Given the description of an element on the screen output the (x, y) to click on. 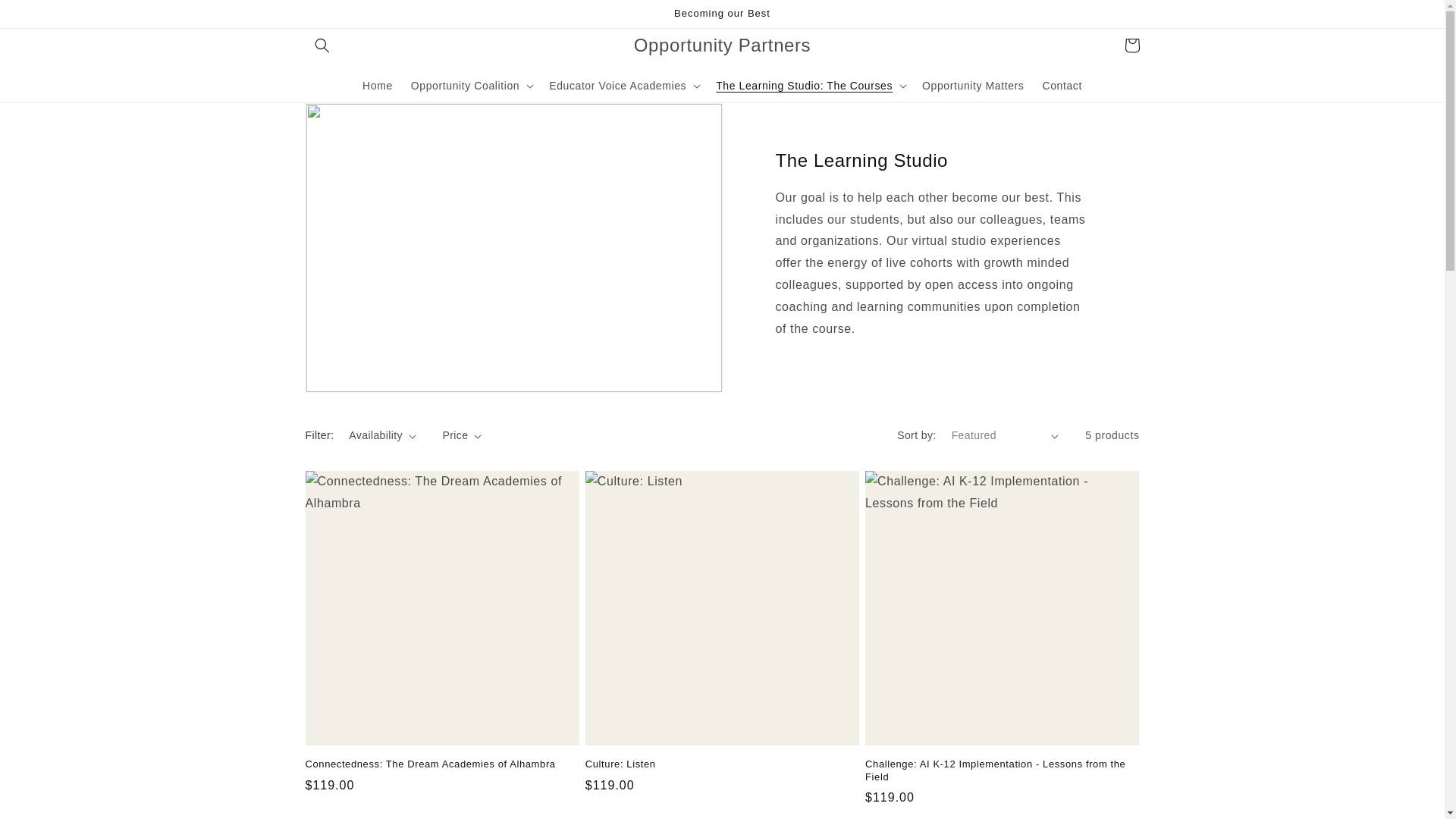
Cart (1131, 45)
Skip to content (45, 17)
Opportunity Partners (721, 44)
Contact (1061, 85)
Home (377, 85)
Opportunity Matters (972, 85)
